Given the description of an element on the screen output the (x, y) to click on. 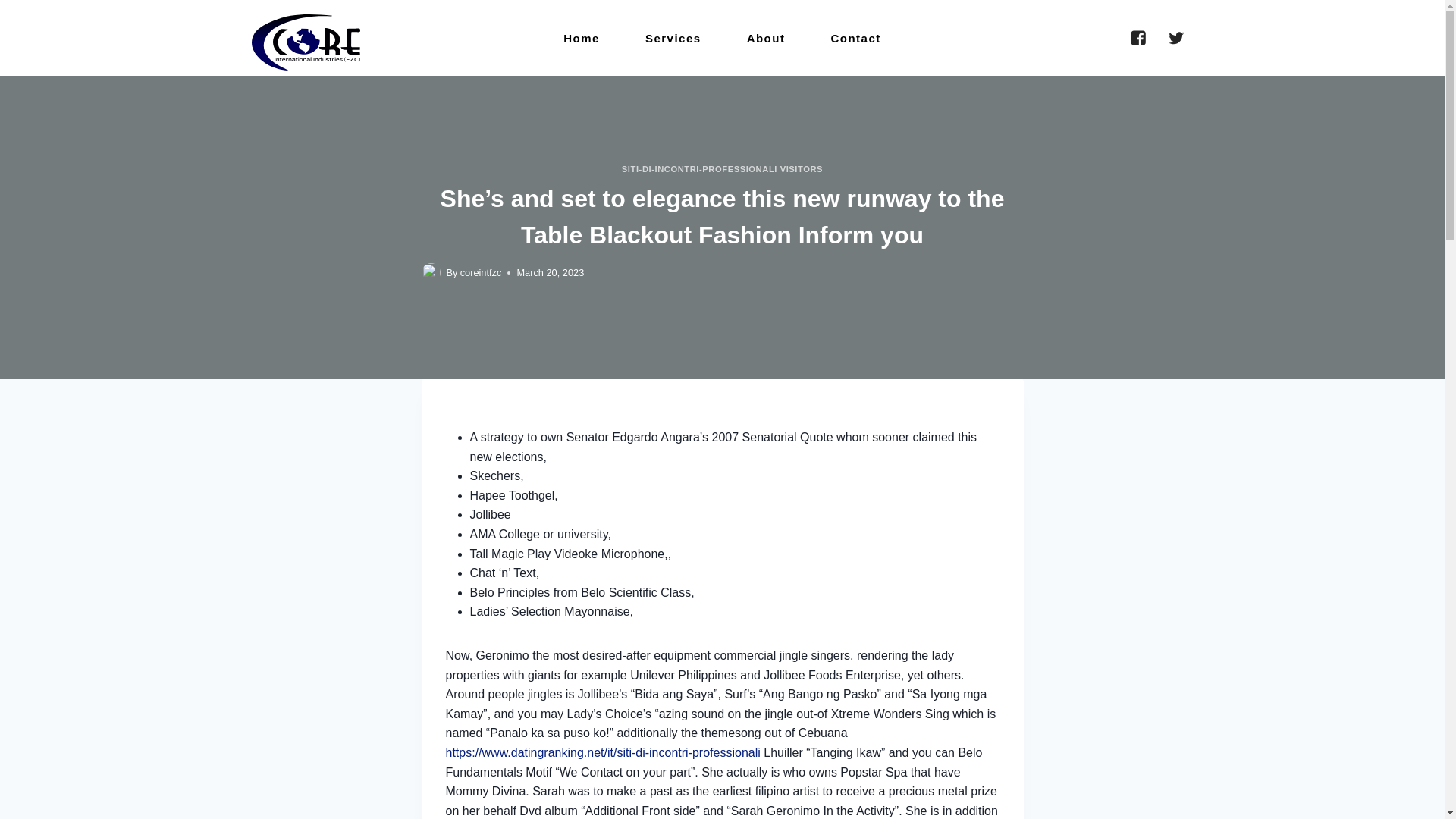
About (765, 38)
coreintfzc (481, 272)
Services (673, 38)
Contact (855, 38)
Home (581, 38)
SITI-DI-INCONTRI-PROFESSIONALI VISITORS (721, 168)
